Given the description of an element on the screen output the (x, y) to click on. 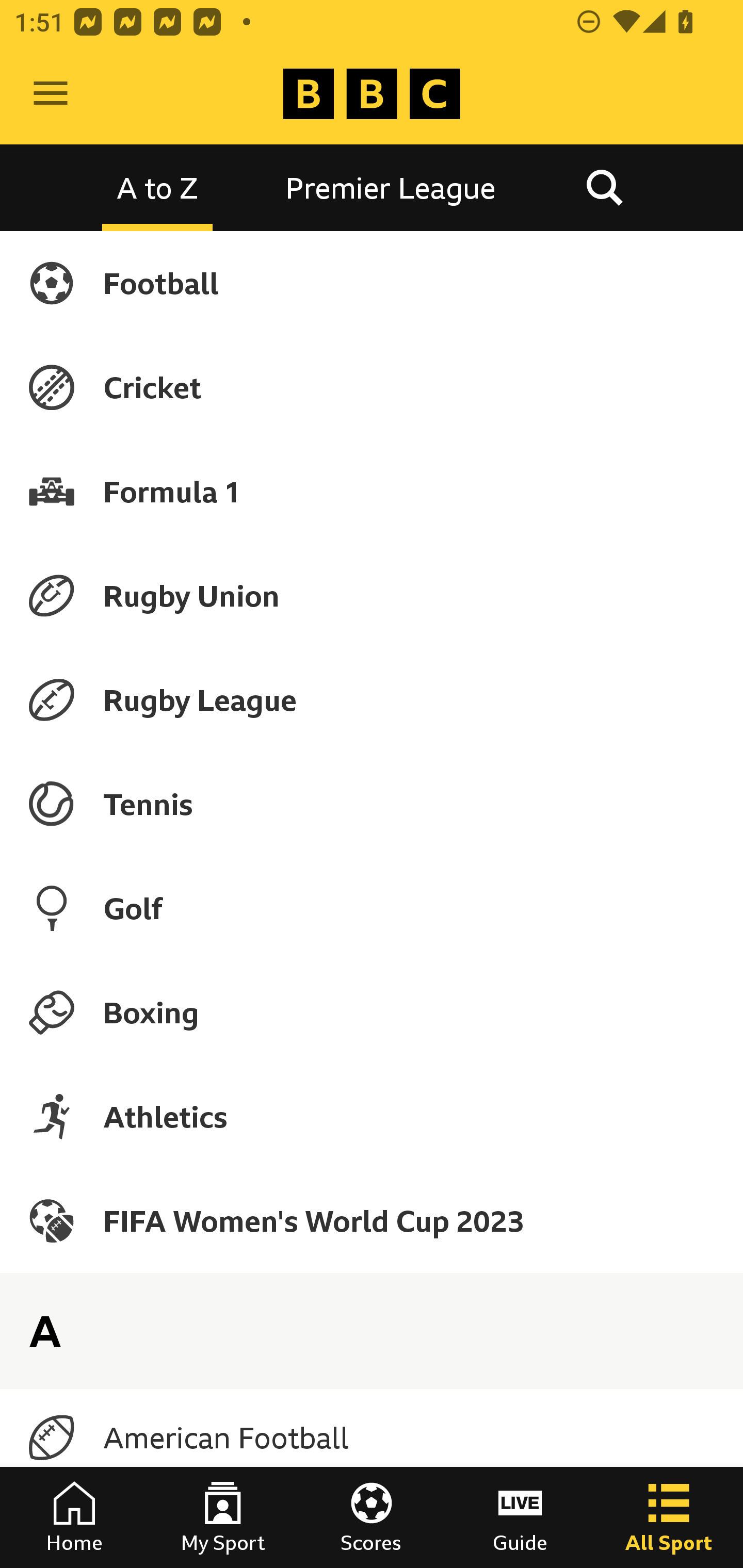
Open Menu (50, 93)
Premier League (390, 187)
Search (604, 187)
Football (371, 282)
Cricket (371, 387)
Formula 1 (371, 491)
Rugby Union (371, 595)
Rugby League (371, 699)
Tennis (371, 804)
Golf (371, 907)
Boxing (371, 1011)
Athletics (371, 1116)
FIFA Women's World Cup 2023 (371, 1220)
American Football (371, 1437)
Home (74, 1517)
My Sport (222, 1517)
Scores (371, 1517)
Guide (519, 1517)
